Given the description of an element on the screen output the (x, y) to click on. 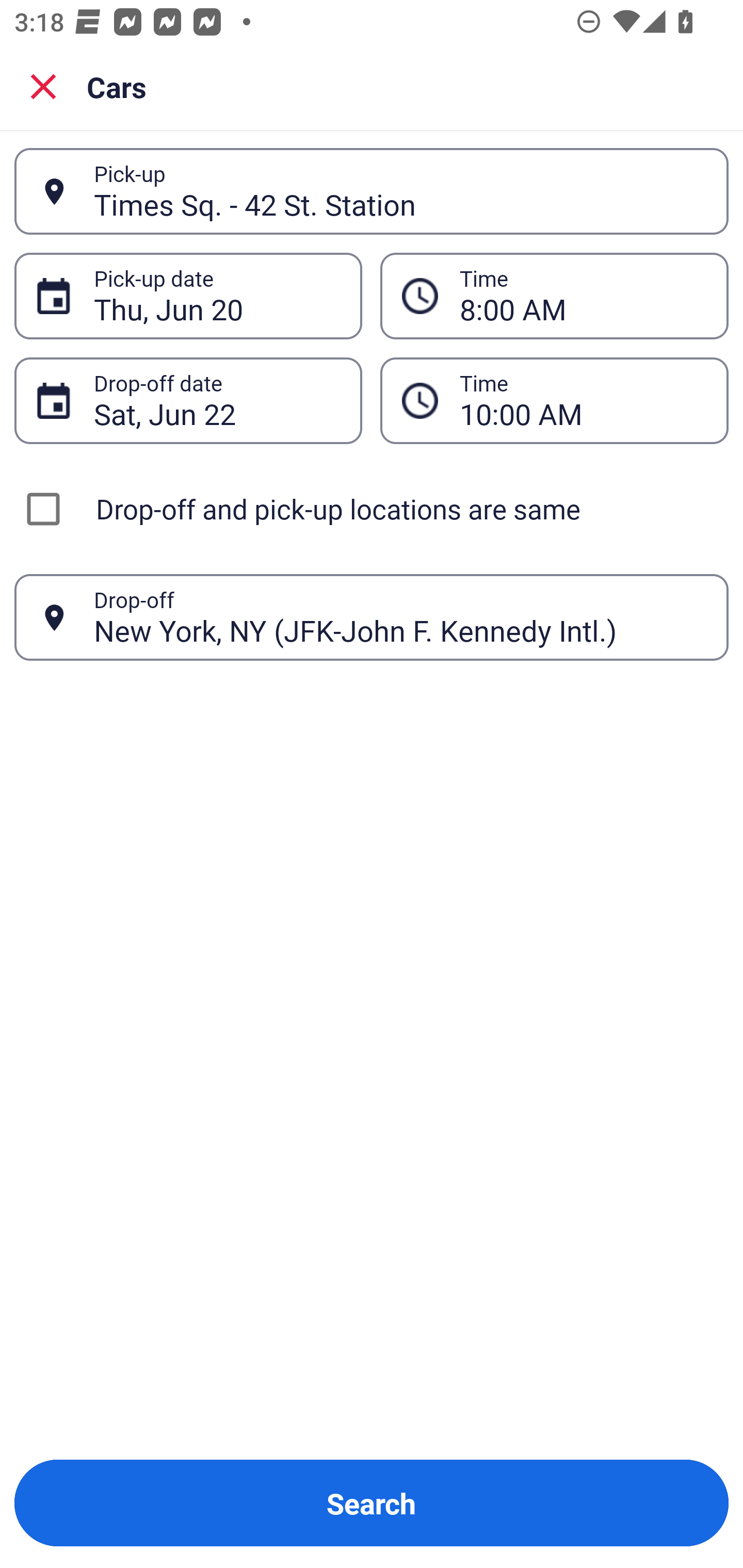
Close search screen (43, 86)
Times Sq. - 42 St. Station Pick-up (371, 191)
Times Sq. - 42 St. Station (399, 191)
Thu, Jun 20 Pick-up date (188, 295)
8:00 AM (554, 295)
Thu, Jun 20 (216, 296)
8:00 AM (582, 296)
Sat, Jun 22 Drop-off date (188, 400)
10:00 AM (554, 400)
Sat, Jun 22 (216, 400)
10:00 AM (582, 400)
Drop-off and pick-up locations are same (371, 508)
New York, NY (JFK-John F. Kennedy Intl.) Drop-off (371, 616)
New York, NY (JFK-John F. Kennedy Intl.) (399, 616)
Search Button Search (371, 1502)
